Given the description of an element on the screen output the (x, y) to click on. 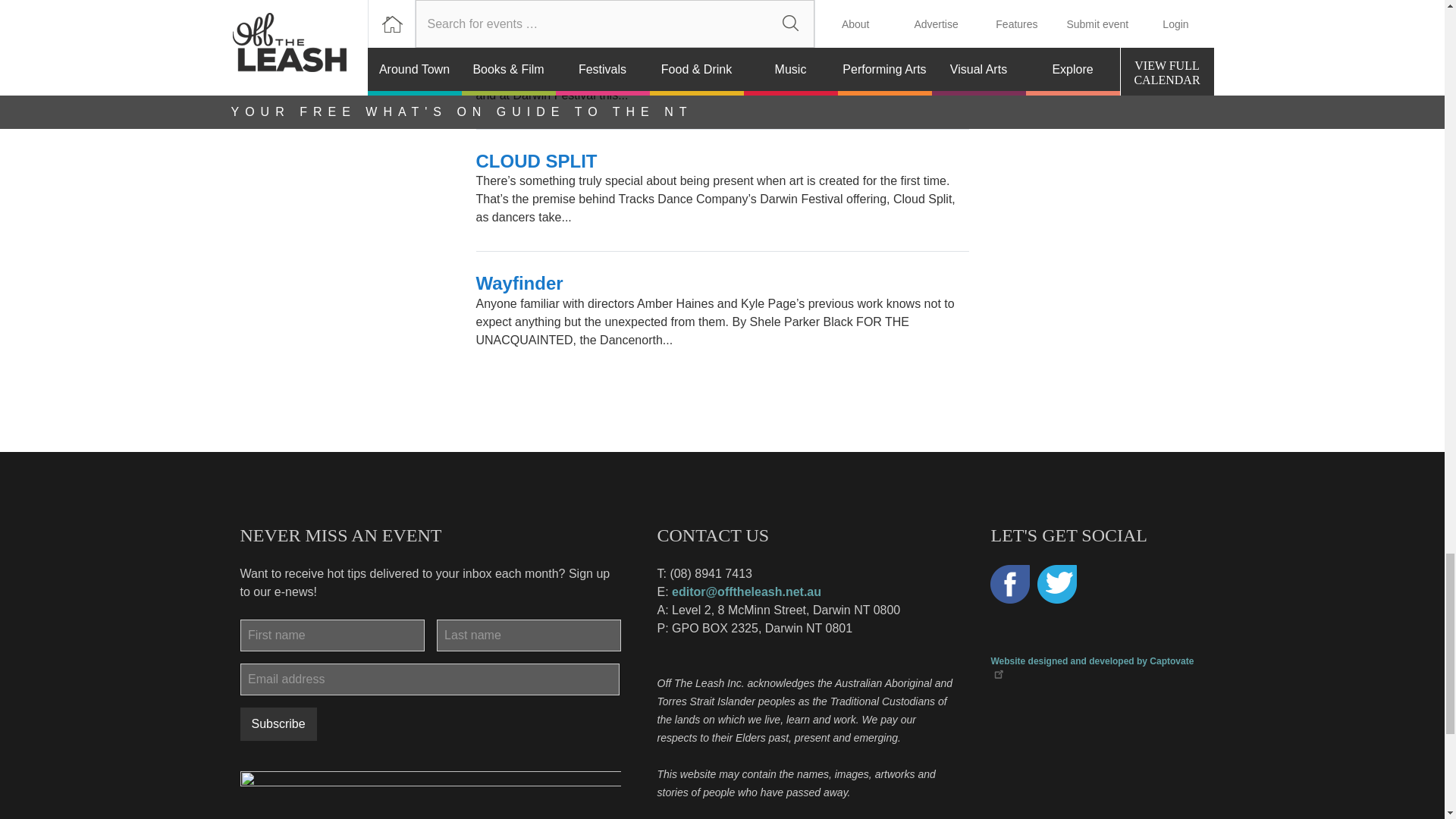
Wayfinder (519, 282)
Follow us on Twitter (1056, 584)
Subscribe (277, 724)
Subscribe (277, 724)
Like us on Facebook (1009, 584)
CLOUD SPLIT (536, 160)
